Given the description of an element on the screen output the (x, y) to click on. 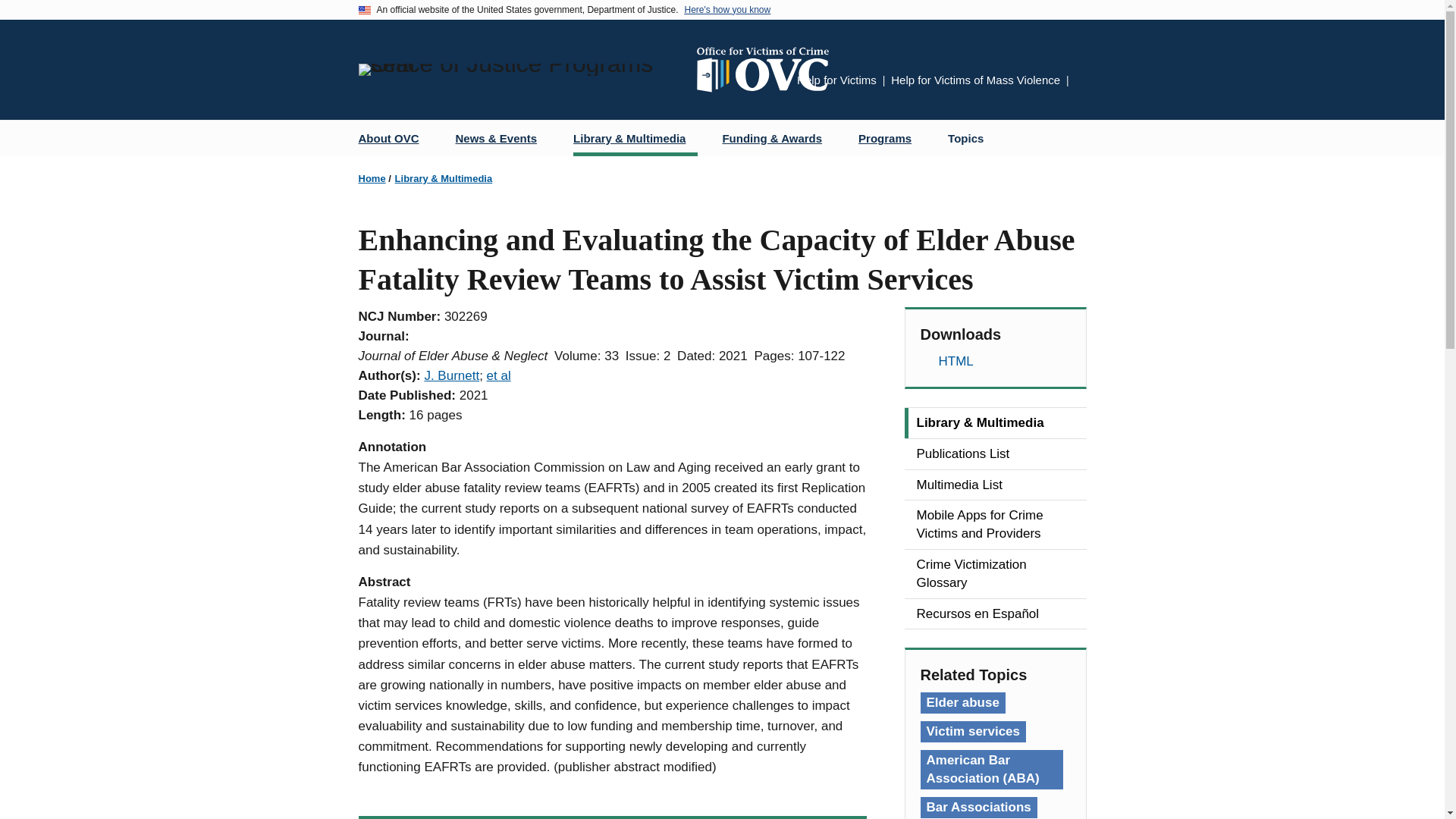
Crime Victimization Glossary (995, 573)
Publications List (995, 453)
Home (768, 69)
Elder abuse (963, 702)
Help for Victims of Mass Violence (975, 79)
Programs (890, 138)
et al (498, 375)
Home (371, 178)
Bar Associations (978, 807)
Office of Justice Programs (521, 69)
HTML (995, 361)
Help for Victims (836, 79)
Topics (965, 138)
